Given the description of an element on the screen output the (x, y) to click on. 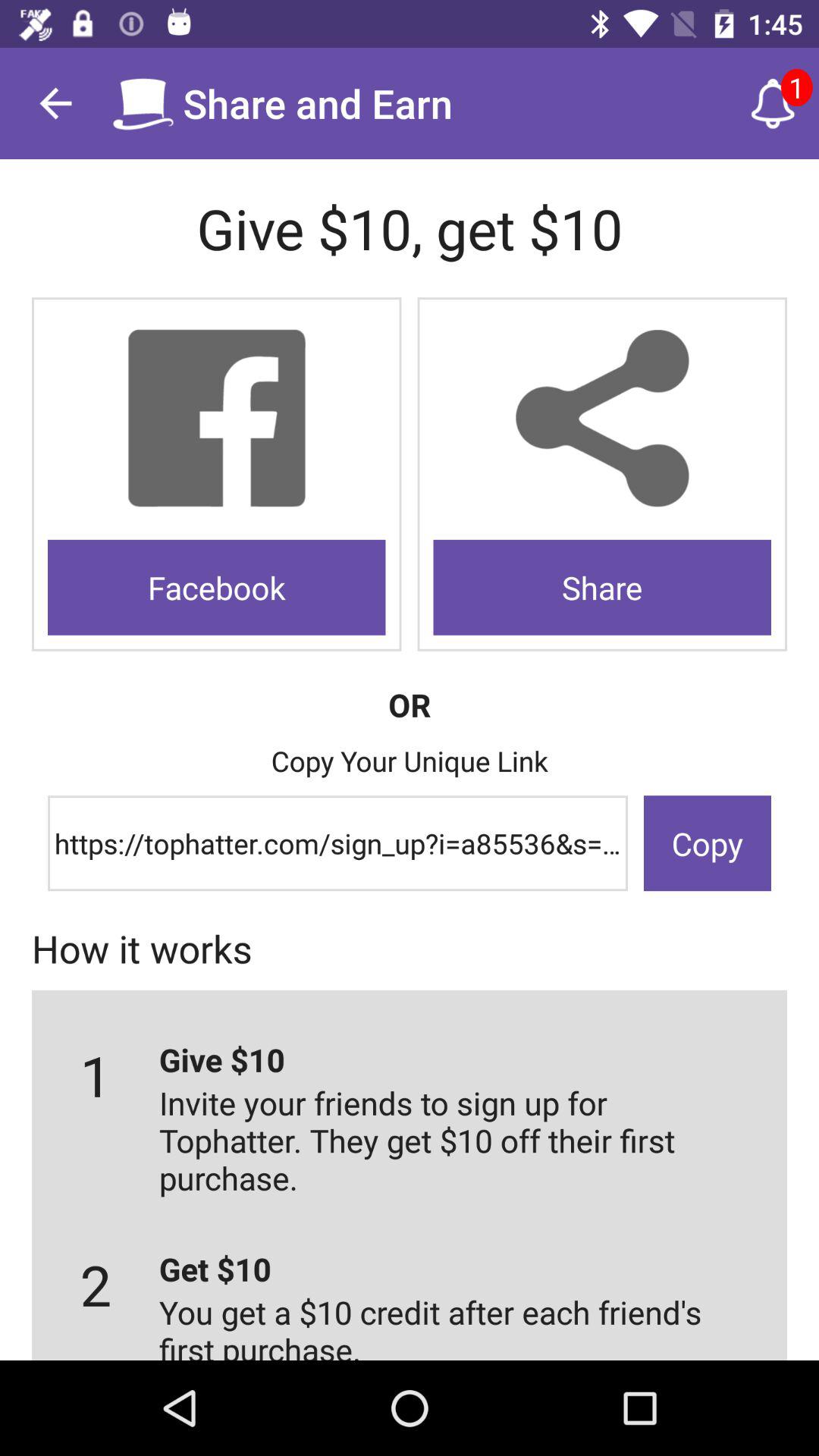
swipe to the facebook (216, 587)
